Given the description of an element on the screen output the (x, y) to click on. 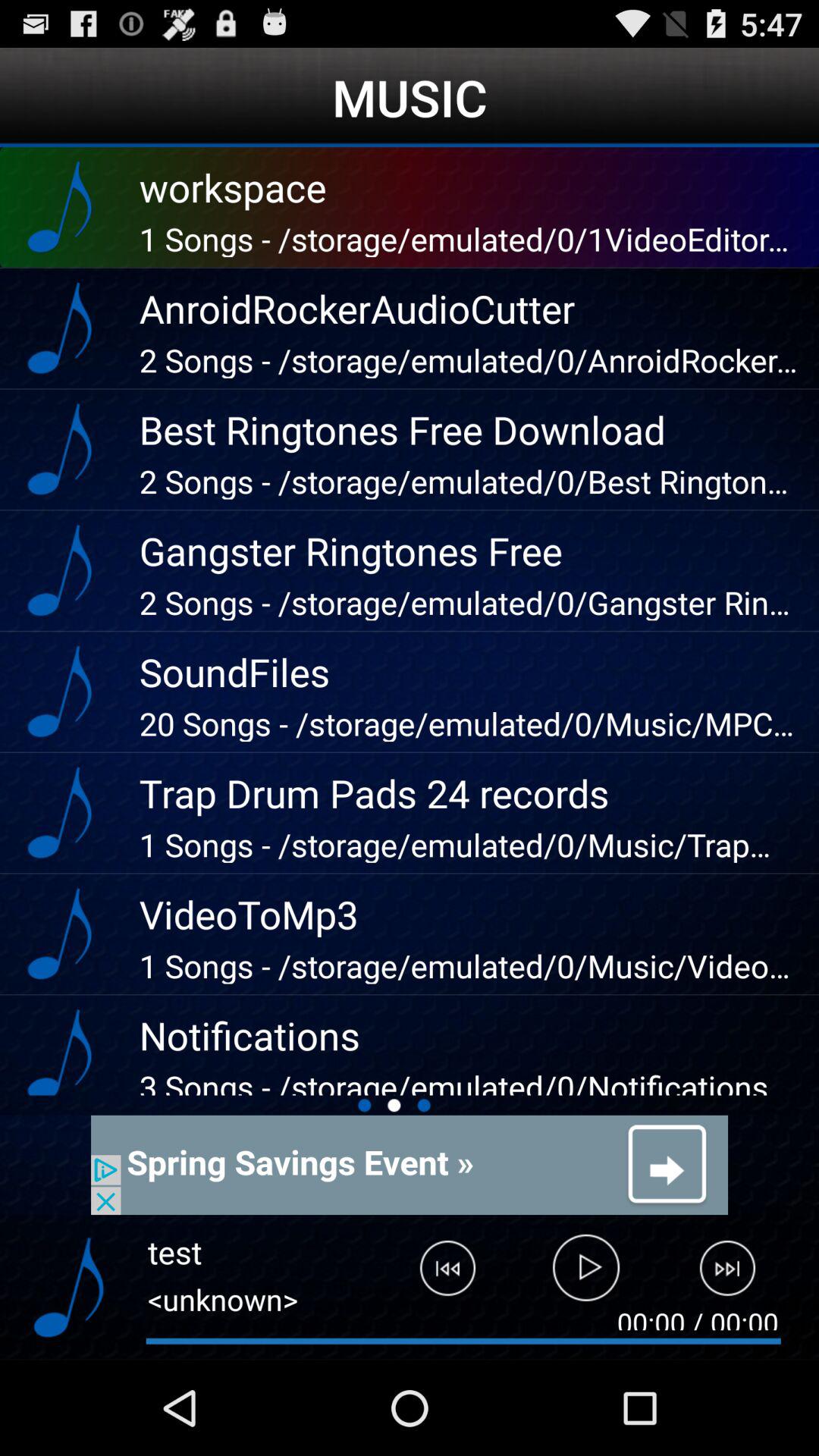
goes to next mp3 (737, 1274)
